Given the description of an element on the screen output the (x, y) to click on. 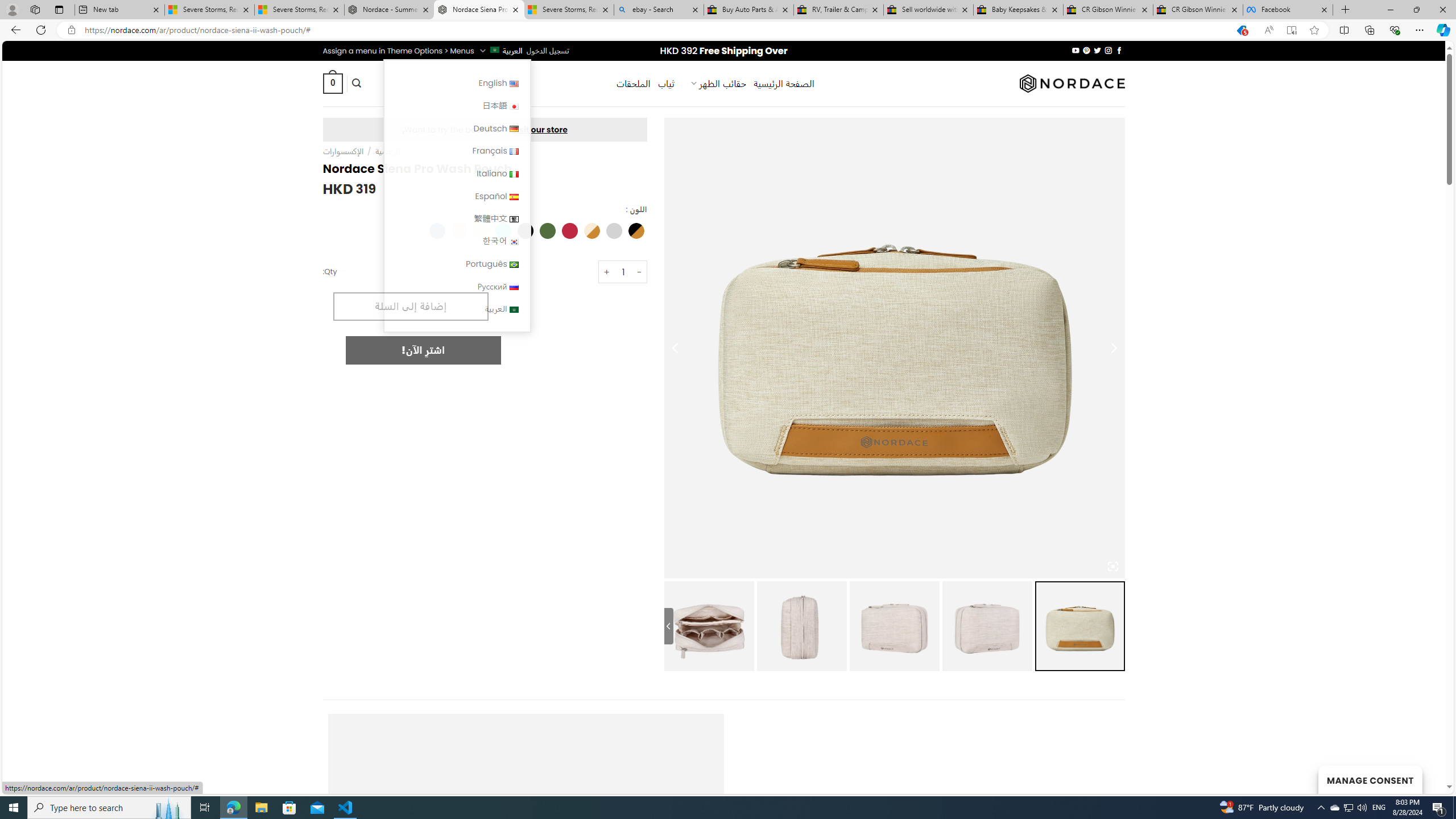
Back (13, 29)
Deutsch (513, 128)
Close (1442, 9)
Enter Immersive Reader (F9) (1291, 29)
Baby Keepsakes & Announcements for sale | eBay (1018, 9)
Italiano (513, 173)
Nordace Siena Pro Wash Pouch (708, 625)
